Given the description of an element on the screen output the (x, y) to click on. 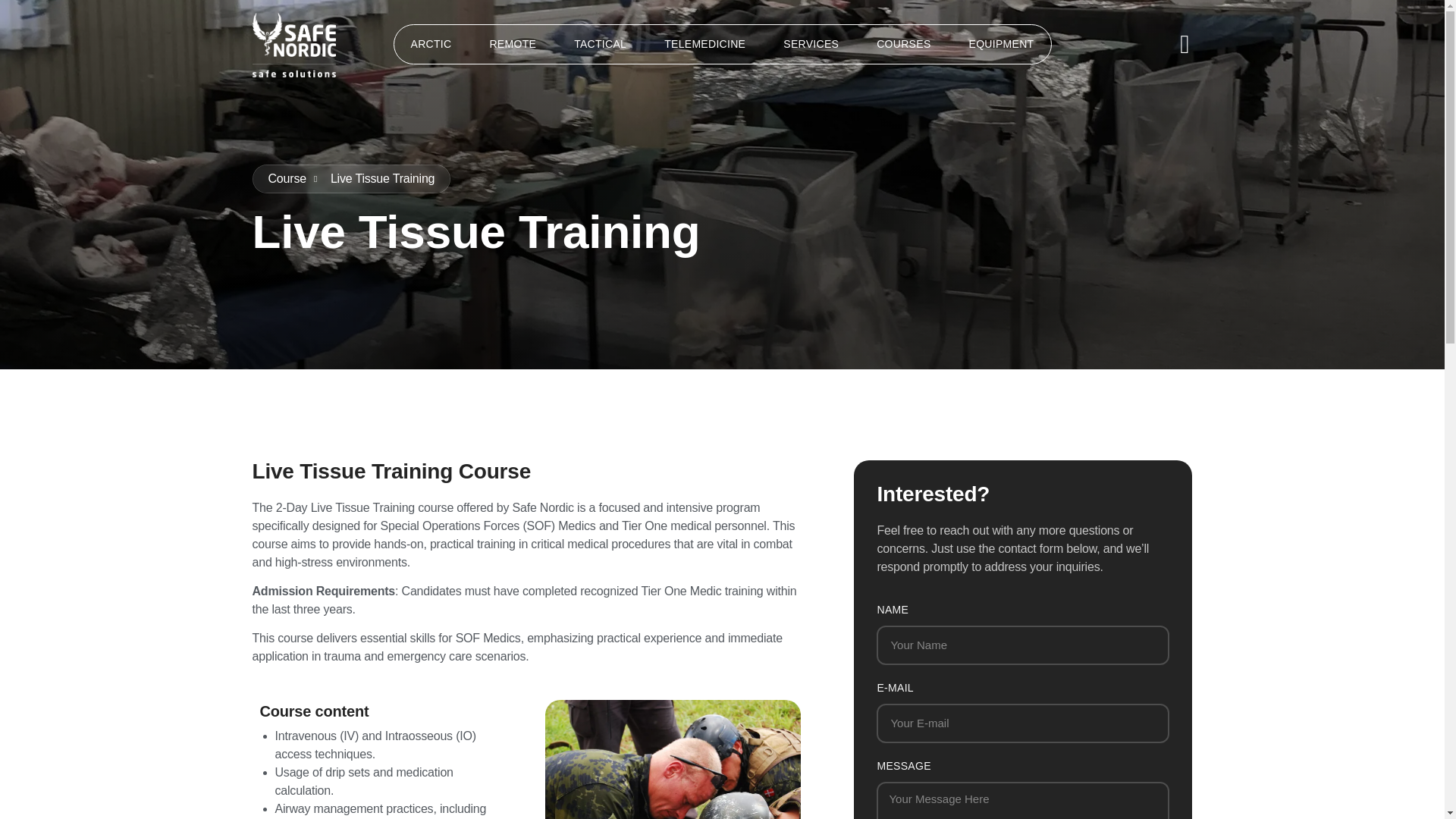
REMOTE (512, 44)
COURSES (902, 44)
SERVICES (810, 44)
TACTICAL (600, 44)
TELEMEDICINE (704, 44)
Course (286, 178)
ARCTIC (431, 44)
EQUIPMENT (1001, 44)
Live Tissue Training (373, 178)
